Given the description of an element on the screen output the (x, y) to click on. 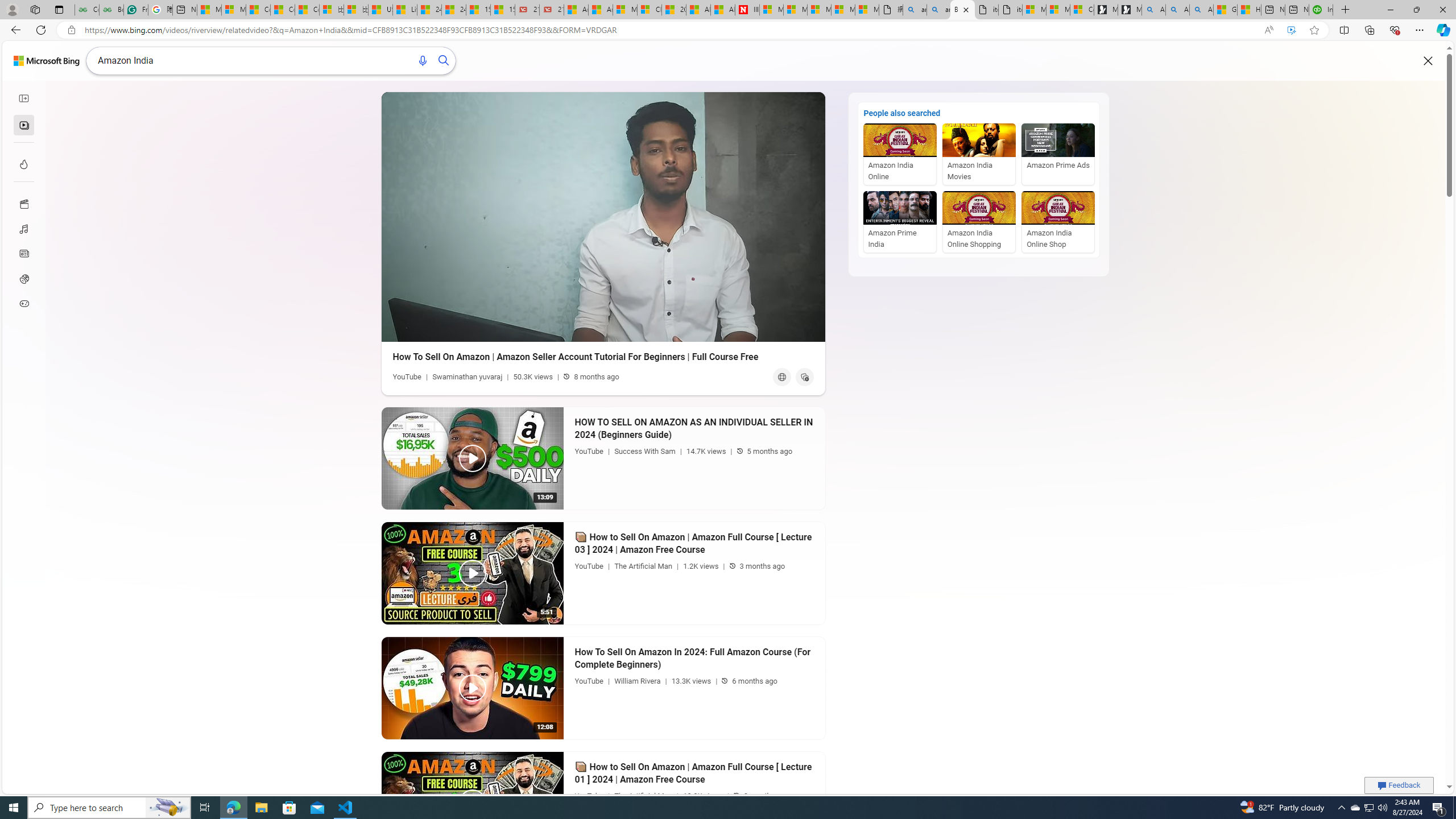
Class: icon nofocus (23, 98)
Amazon India Online (899, 153)
Related videos (23, 124)
Bing Videos - Audio playing (962, 9)
Save Button (804, 376)
Amazon India Movies (978, 153)
